Given the description of an element on the screen output the (x, y) to click on. 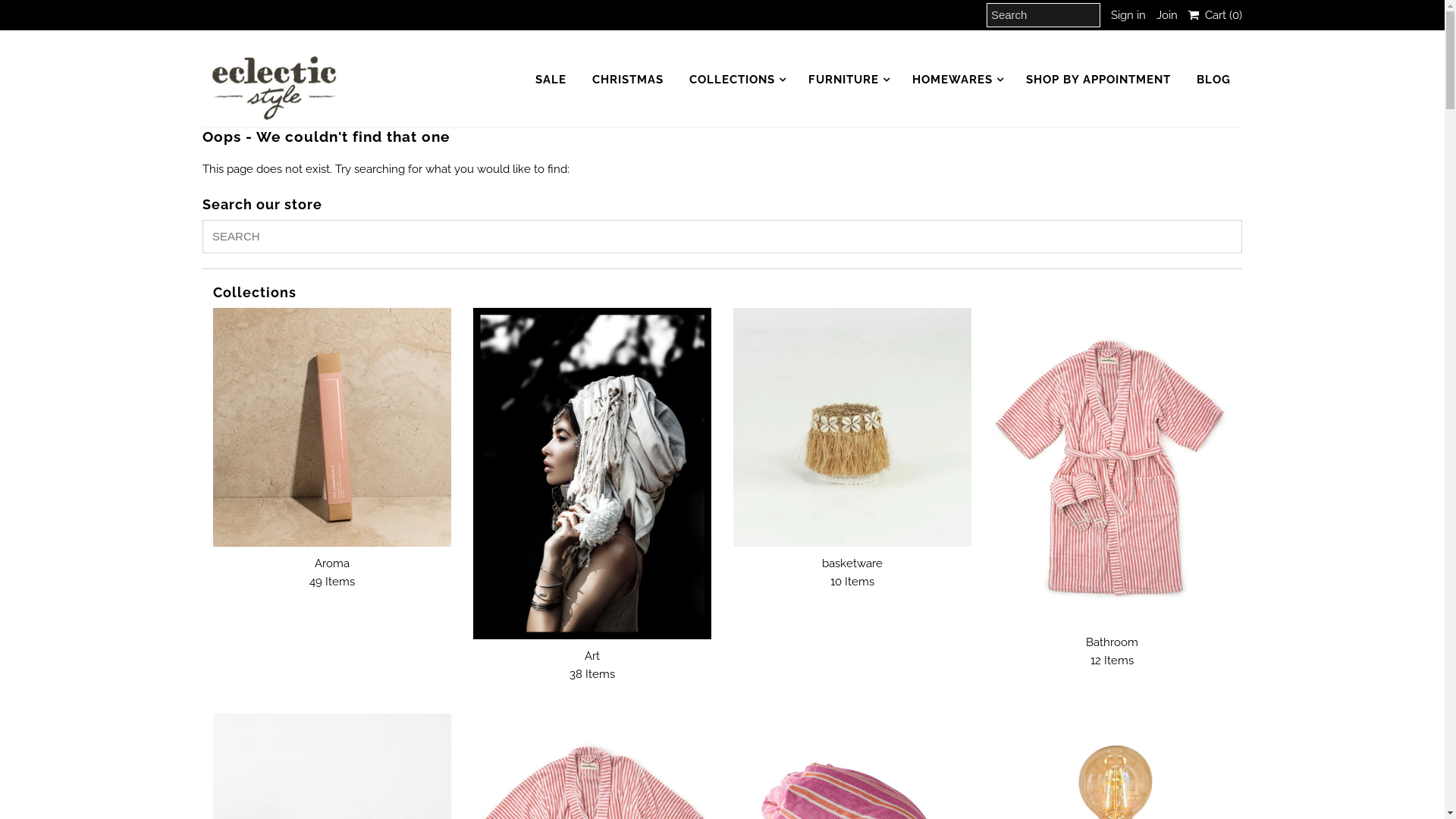
HOMEWARES Element type: text (952, 79)
Art
38 Items Element type: text (592, 664)
CHRISTMAS Element type: text (627, 79)
basketware
10 Items Element type: text (852, 572)
SALE Element type: text (550, 79)
  Cart (0) Element type: text (1215, 14)
SHOP BY APPOINTMENT Element type: text (1098, 79)
FURNITURE Element type: text (843, 79)
Bathroom Element type: hover (1111, 466)
COLLECTIONS Element type: text (731, 79)
Art Element type: hover (592, 472)
Join Element type: text (1166, 14)
BLOG Element type: text (1213, 79)
Sign in Element type: text (1127, 14)
Aroma Element type: hover (332, 426)
Aroma
49 Items Element type: text (332, 572)
basketware Element type: hover (852, 426)
Bathroom
12 Items Element type: text (1111, 651)
